Given the description of an element on the screen output the (x, y) to click on. 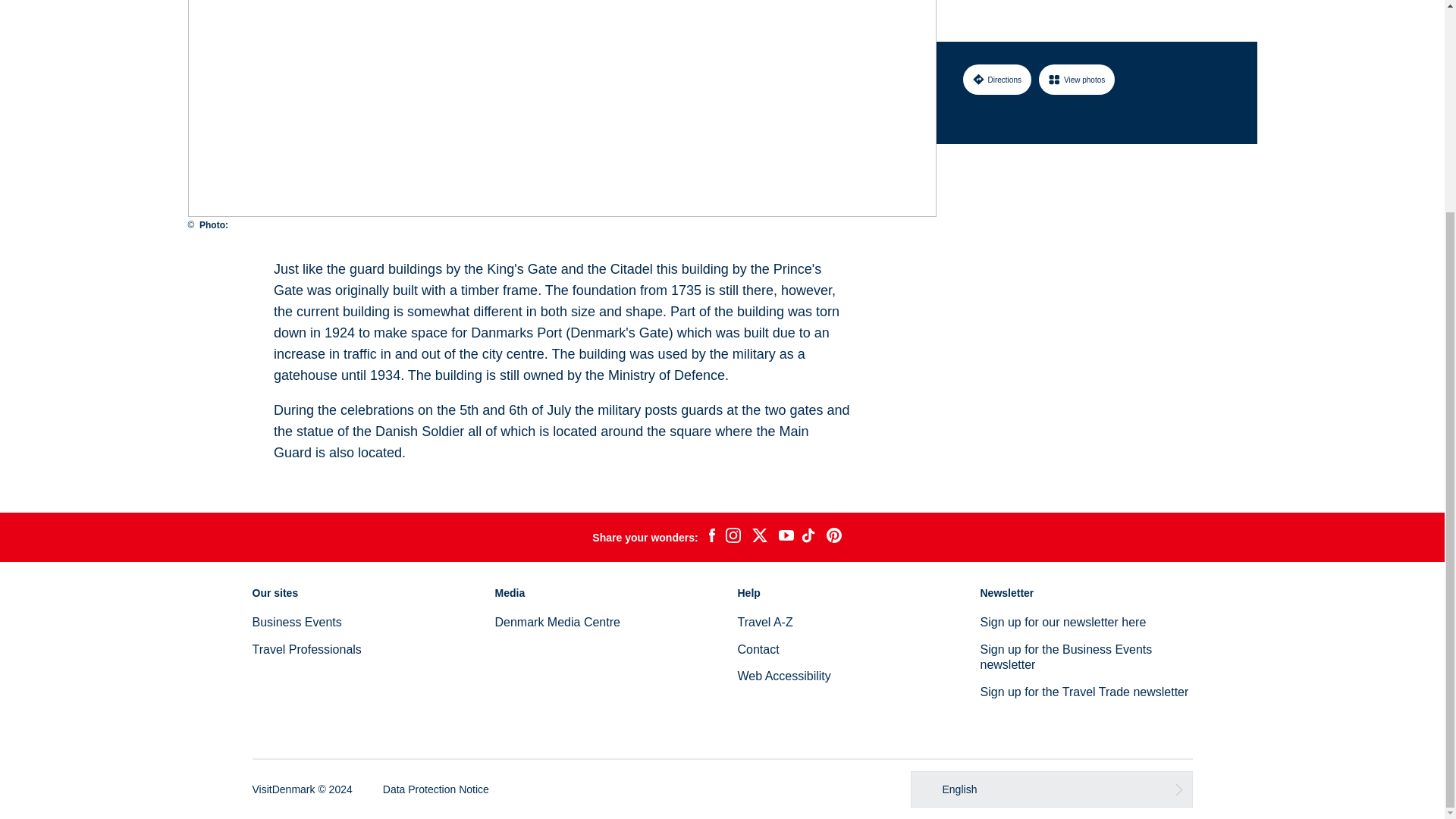
Data Protection Notice (435, 789)
tiktok (810, 537)
Sign up for the Business Events newsletter (1065, 656)
Sign up for the Travel Trade newsletter (1083, 691)
Travel A-Z (764, 621)
Sign up for the Travel Trade newsletter (1083, 691)
pinterest (834, 537)
instagram (732, 537)
Business Events (295, 621)
youtube (786, 537)
Travel Professionals (306, 649)
Sign up for our newsletter here (1062, 621)
Sign up for our newsletter here (1062, 621)
Denmark Media Centre (557, 621)
Contact (757, 649)
